Given the description of an element on the screen output the (x, y) to click on. 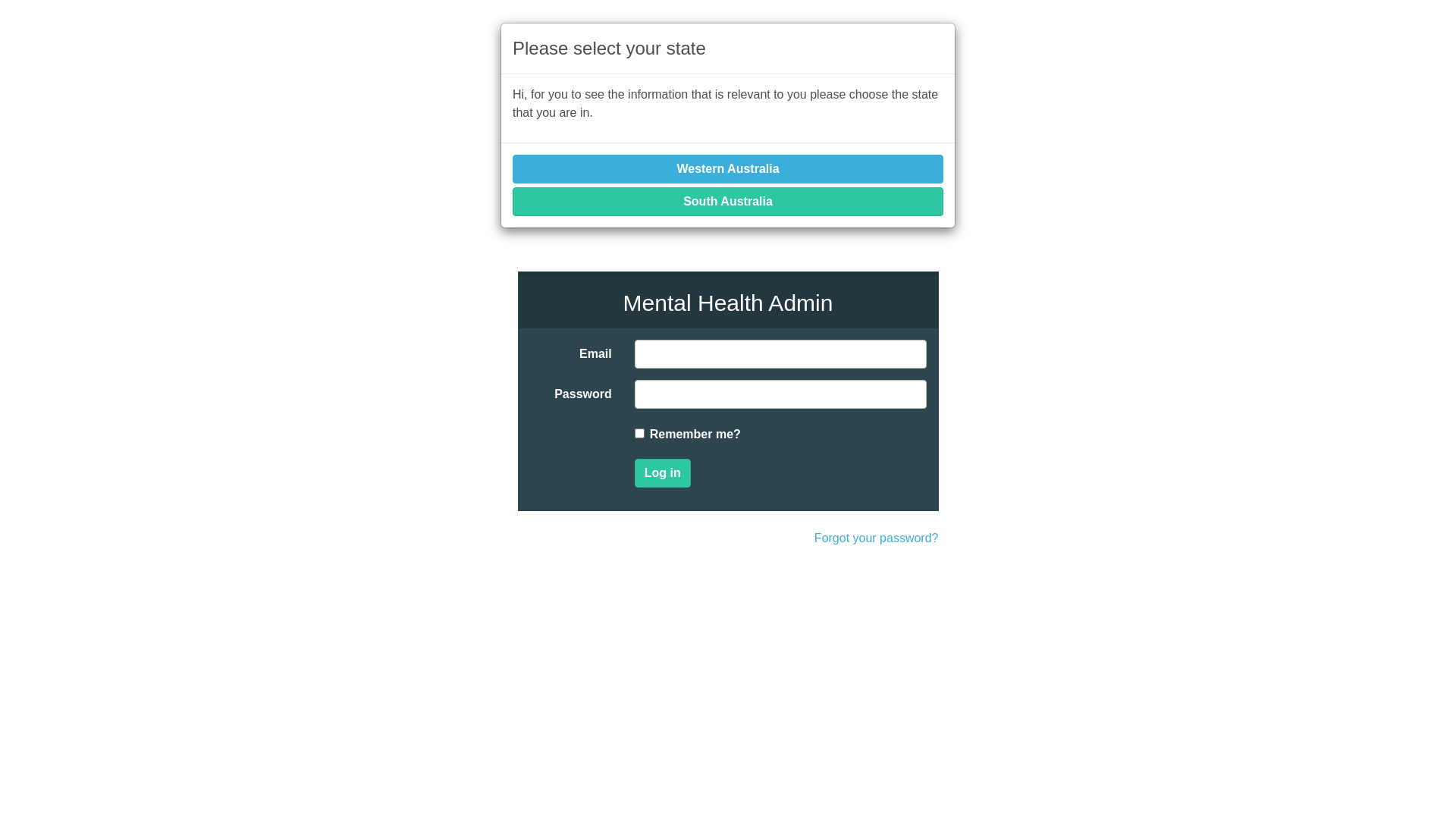
Forgot your password? Element type: text (876, 537)
South Australia Element type: text (727, 201)
Log in Element type: text (662, 472)
Western Australia Element type: text (727, 168)
